Given the description of an element on the screen output the (x, y) to click on. 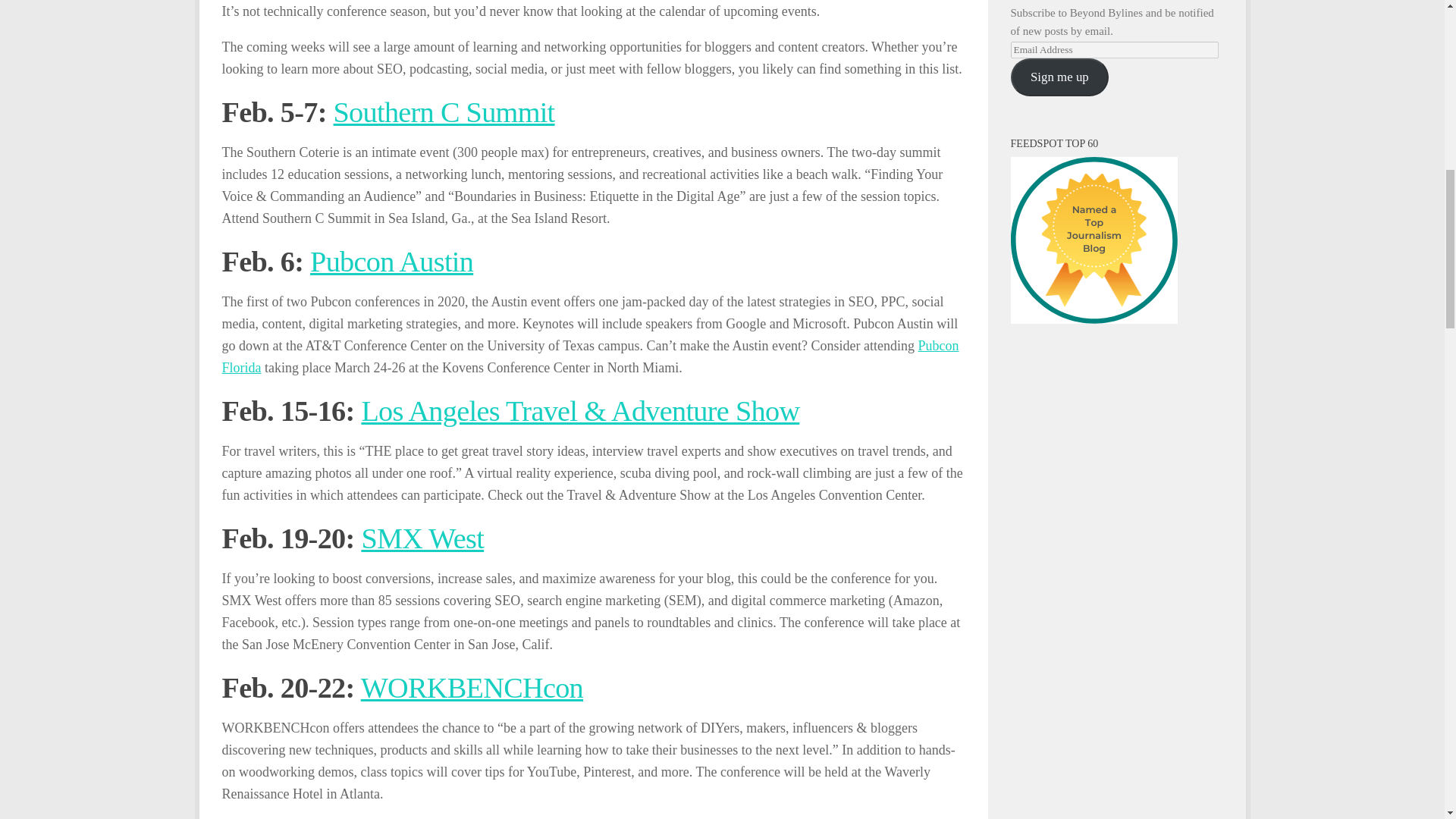
Southern C Summit (443, 111)
Pubcon Austin (391, 261)
Feedspot-top-50 (1093, 240)
Pubcon Florida (589, 356)
